Given the description of an element on the screen output the (x, y) to click on. 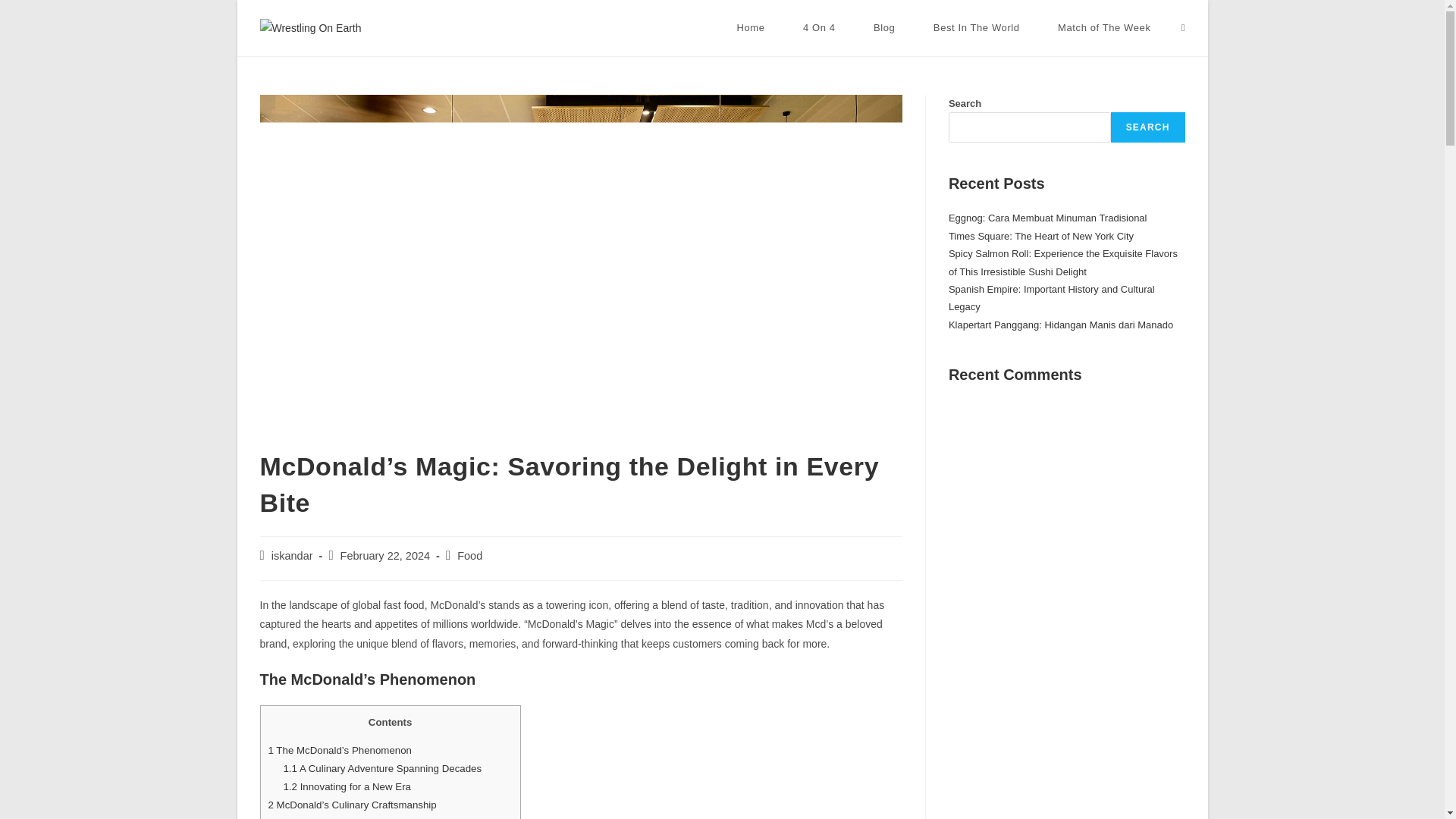
Home (750, 28)
Best In The World (976, 28)
Blog (884, 28)
Food (469, 555)
4 On 4 (819, 28)
1.1 A Culinary Adventure Spanning Decades (381, 767)
Posts by iskandar (291, 555)
Match of The Week (1104, 28)
iskandar (291, 555)
1.2 Innovating for a New Era (346, 786)
